Given the description of an element on the screen output the (x, y) to click on. 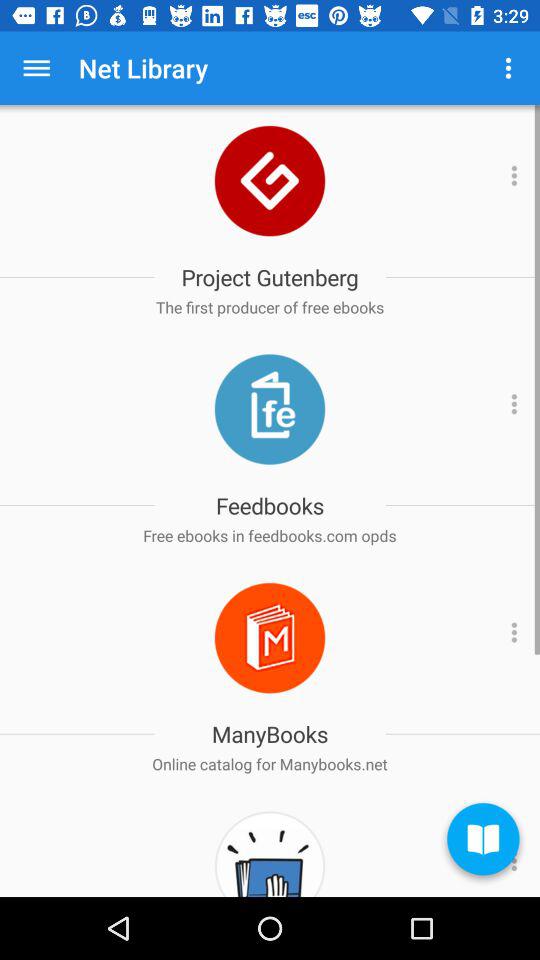
flip until the the first producer app (270, 307)
